Given the description of an element on the screen output the (x, y) to click on. 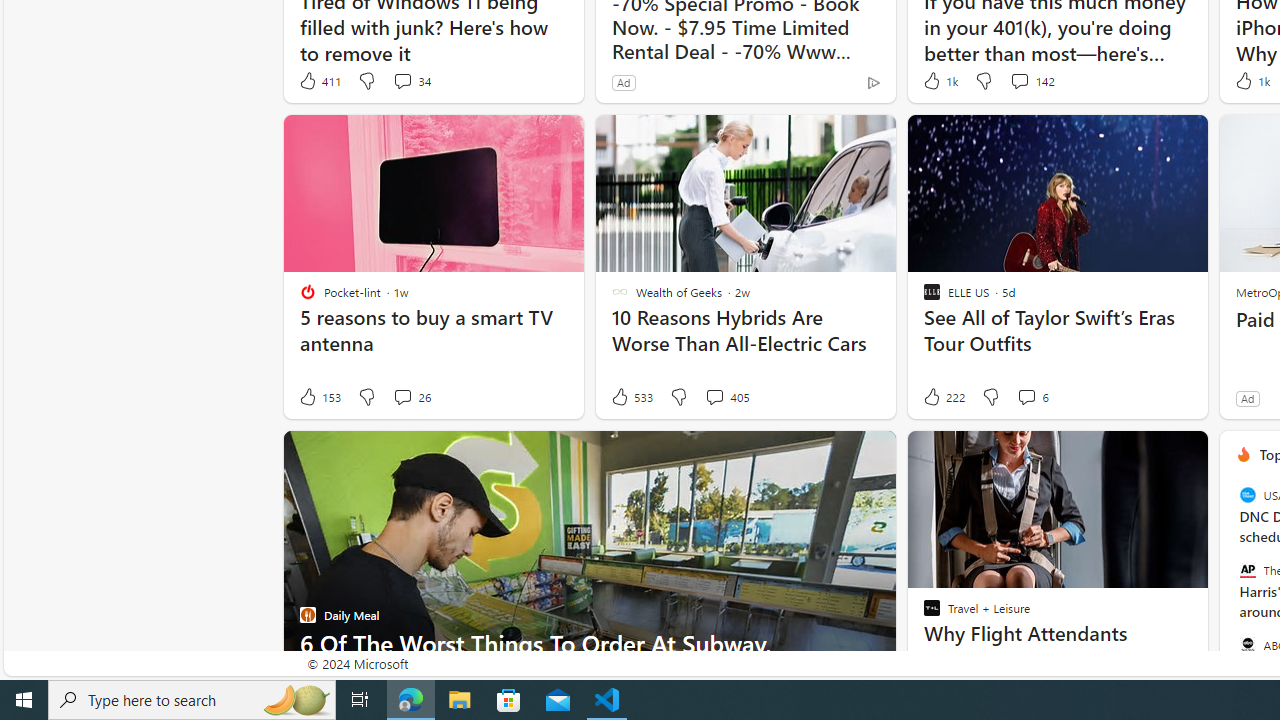
View comments 34 Comment (411, 80)
View comments 26 Comment (411, 397)
previous (1229, 583)
View comments 142 Comment (1019, 80)
411 Like (319, 80)
1k Like (1250, 80)
